Given the description of an element on the screen output the (x, y) to click on. 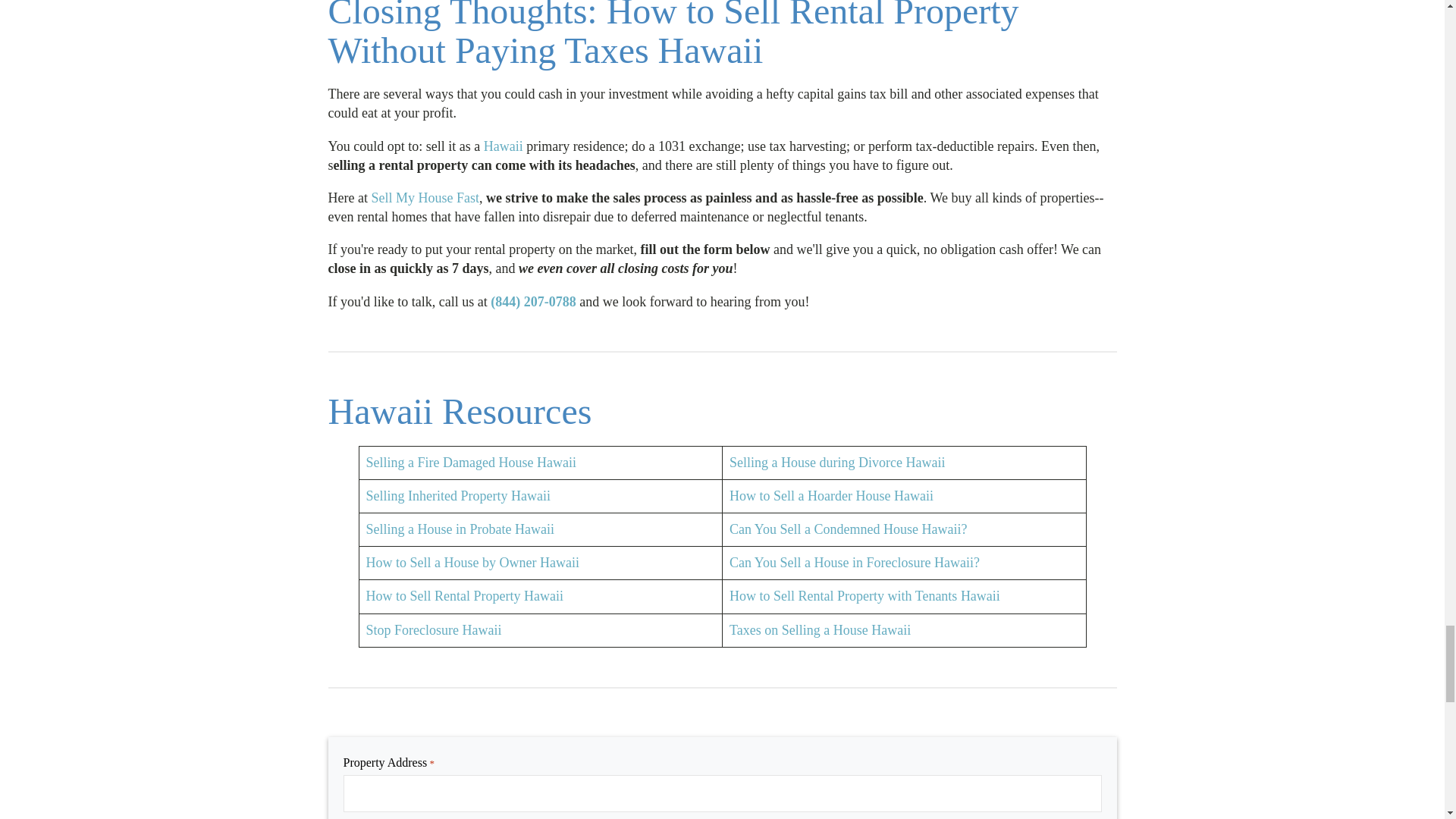
How to Sell a House by Owner Hawaii (471, 562)
Hawaii (502, 145)
How to Sell Rental Property with Tenants Hawaii (864, 595)
How to Sell a Hoarder House Hawaii (831, 495)
Can You Sell a House in Foreclosure Hawaii? (854, 562)
Can You Sell a Condemned House Hawaii? (847, 529)
Selling a House during Divorce Hawaii (836, 462)
Stop Foreclosure Hawaii (432, 630)
Selling a Fire Damaged House Hawaii (470, 462)
How to Sell Rental Property Hawaii (463, 595)
